Given the description of an element on the screen output the (x, y) to click on. 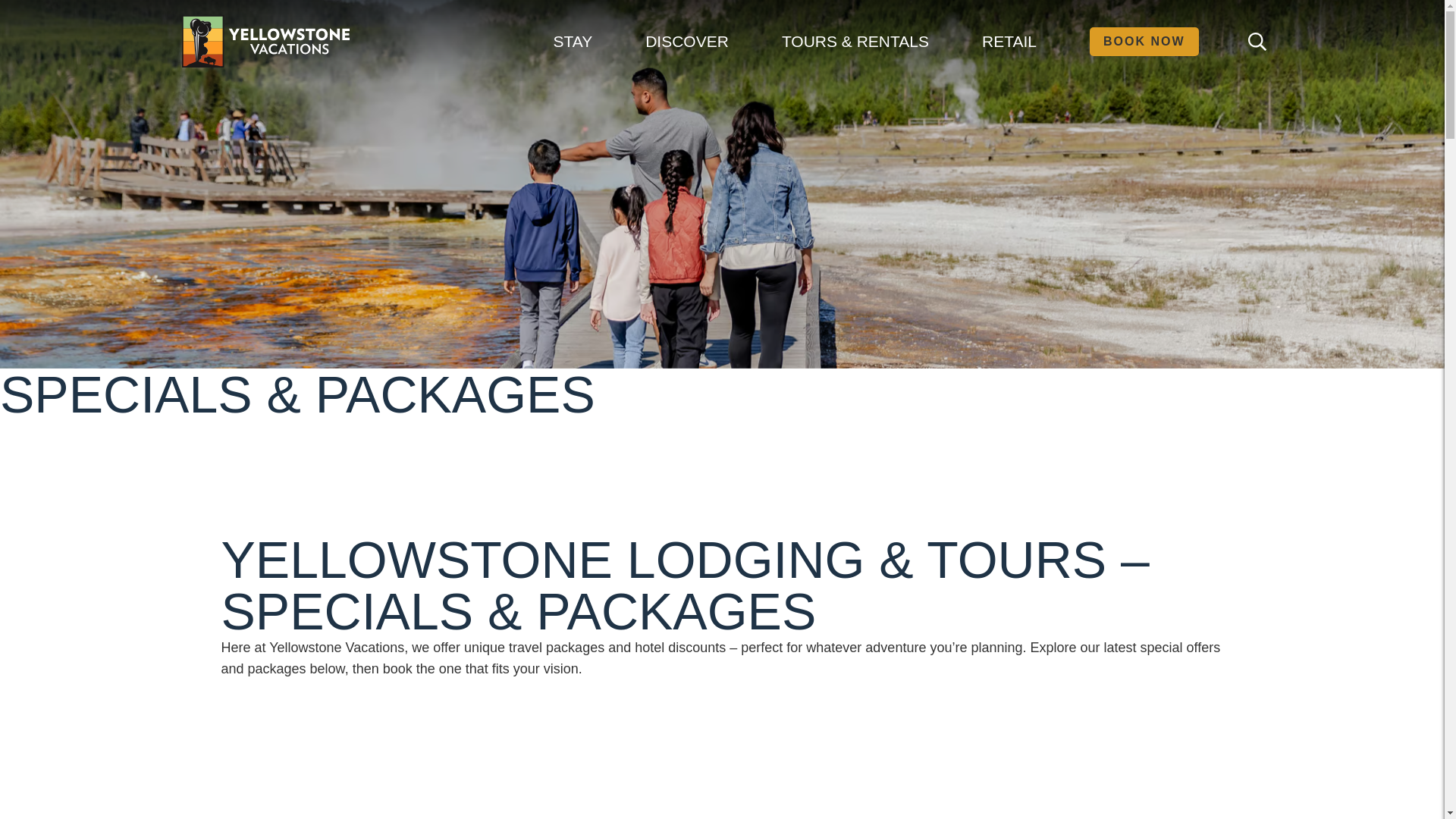
Search icon (1256, 41)
STAY (572, 41)
DISCOVER (687, 41)
